Given the description of an element on the screen output the (x, y) to click on. 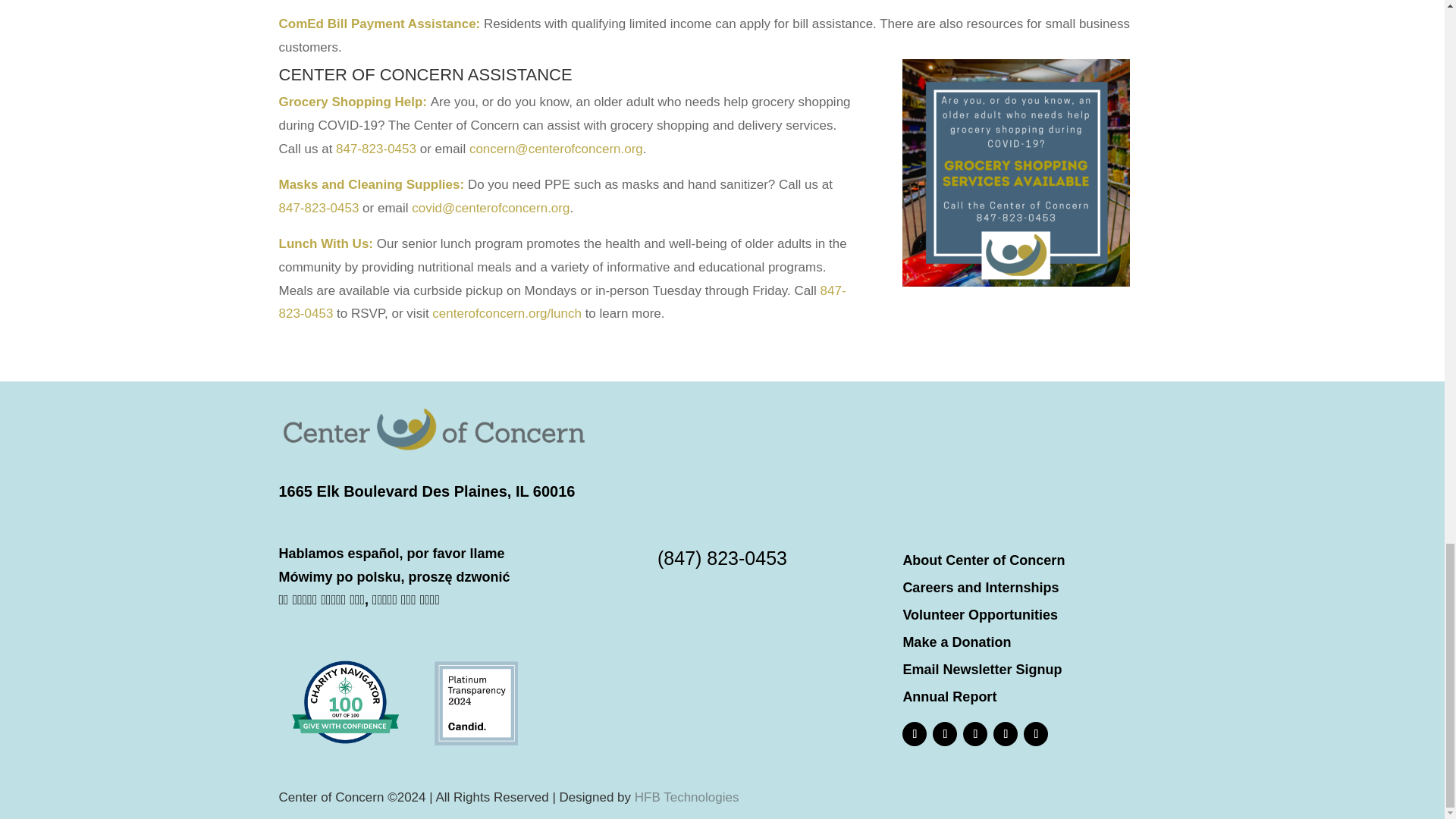
Follow on Facebook (914, 733)
Follow on Instagram (944, 733)
Center of Concern logo simple transparent (434, 429)
CoC-footer-images-2024 (410, 702)
